Given the description of an element on the screen output the (x, y) to click on. 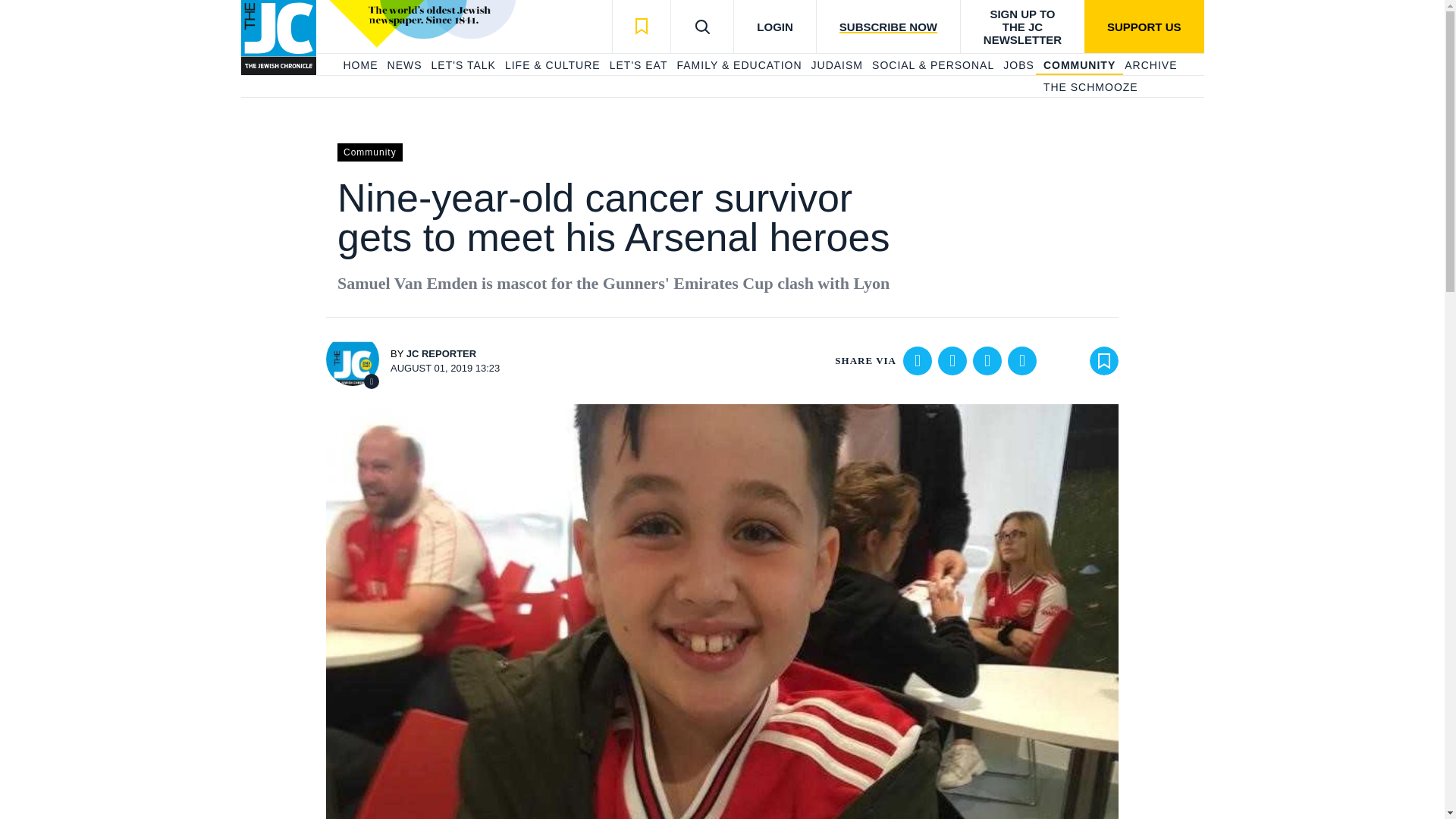
SIGN UP TO THE JC NEWSLETTER (1021, 26)
JUDAISM (836, 65)
SUPPORT US (1144, 26)
LET'S TALK (463, 65)
LET'S EAT (639, 65)
HOME (359, 65)
COMMUNITY (1079, 65)
SUBSCRIBE NOW (887, 26)
THE SCHMOOZE (1090, 87)
JOBS (1018, 65)
